Given the description of an element on the screen output the (x, y) to click on. 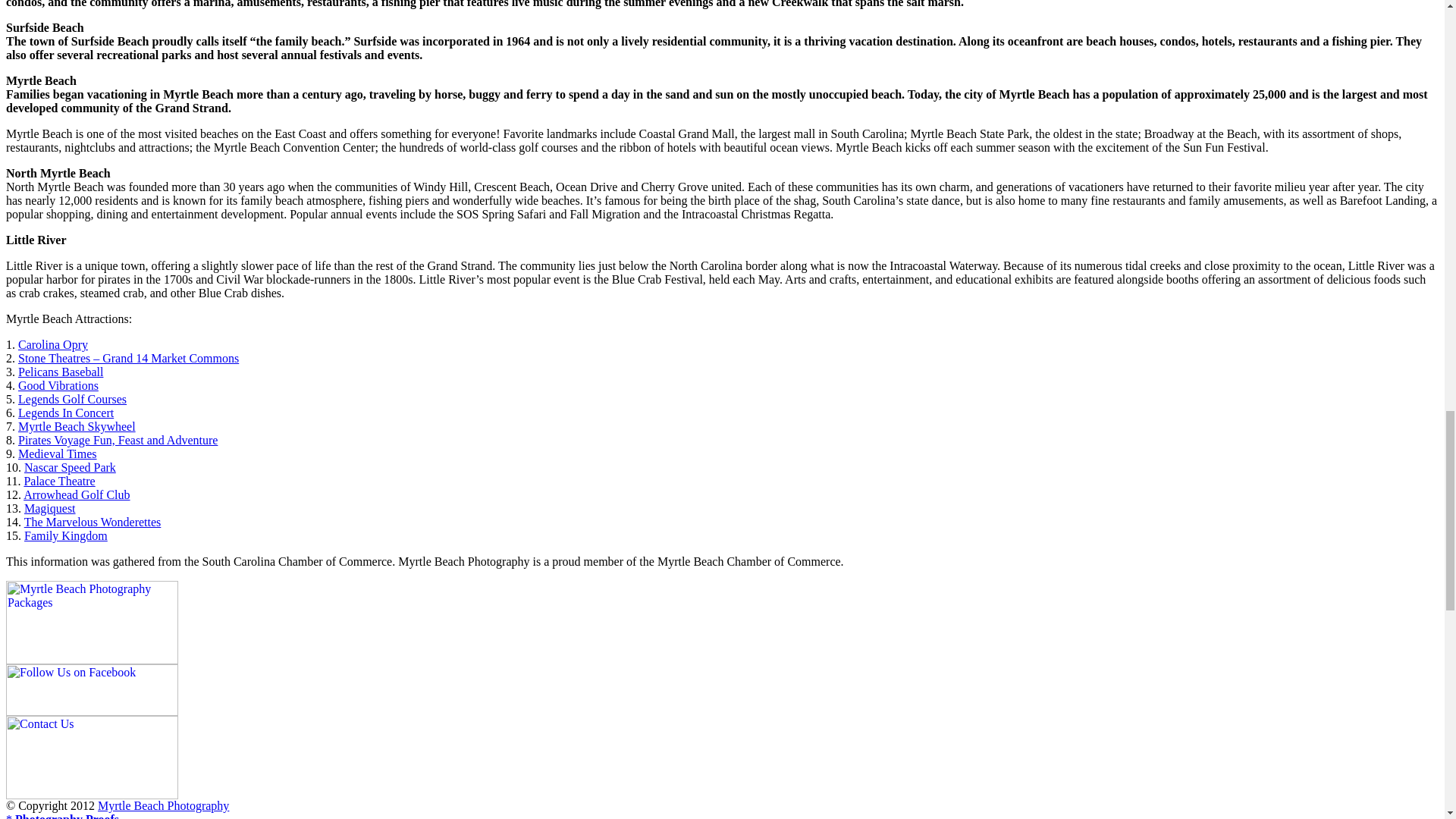
Good Vibrations (58, 385)
Nascar Speed Park (70, 467)
Pelicans Baseball (60, 371)
Arrowhead Golf Club (76, 494)
Legends In Concert (65, 412)
Carolina Opry (52, 344)
Medieval Times (57, 453)
Pirates Voyage Fun, Feast and Adventure (116, 440)
Myrtle Beach Skywheel (76, 426)
Legends Golf Courses (71, 399)
